Given the description of an element on the screen output the (x, y) to click on. 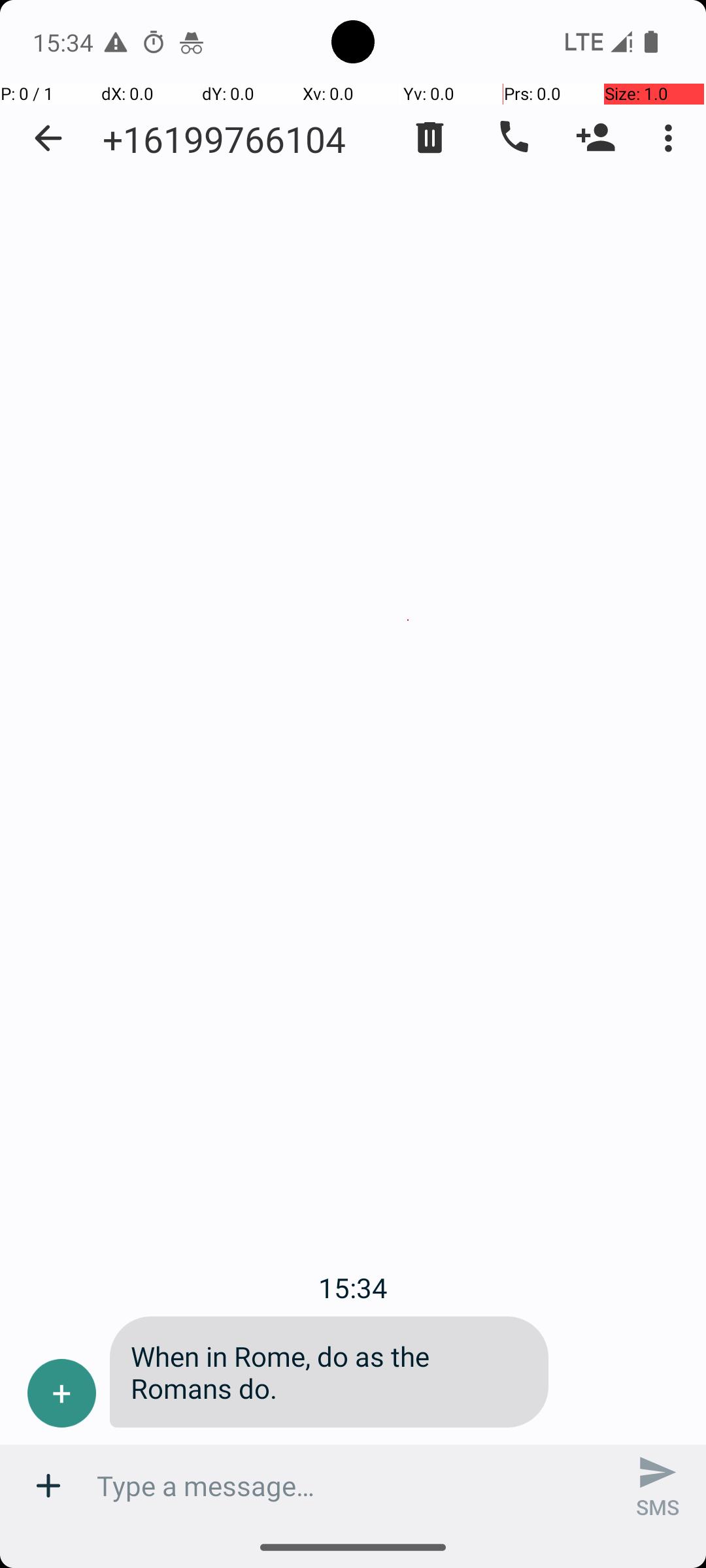
+16199766104 Element type: android.widget.TextView (223, 138)
Dial number Element type: android.widget.Button (512, 137)
Add Person Element type: android.widget.Button (595, 137)
Attachment Element type: android.widget.ImageView (48, 1485)
Type a message… Element type: android.widget.EditText (352, 1485)
SMS Element type: android.widget.Button (657, 1485)
When in Rome, do as the Romans do. Element type: android.widget.TextView (328, 1371)
